Given the description of an element on the screen output the (x, y) to click on. 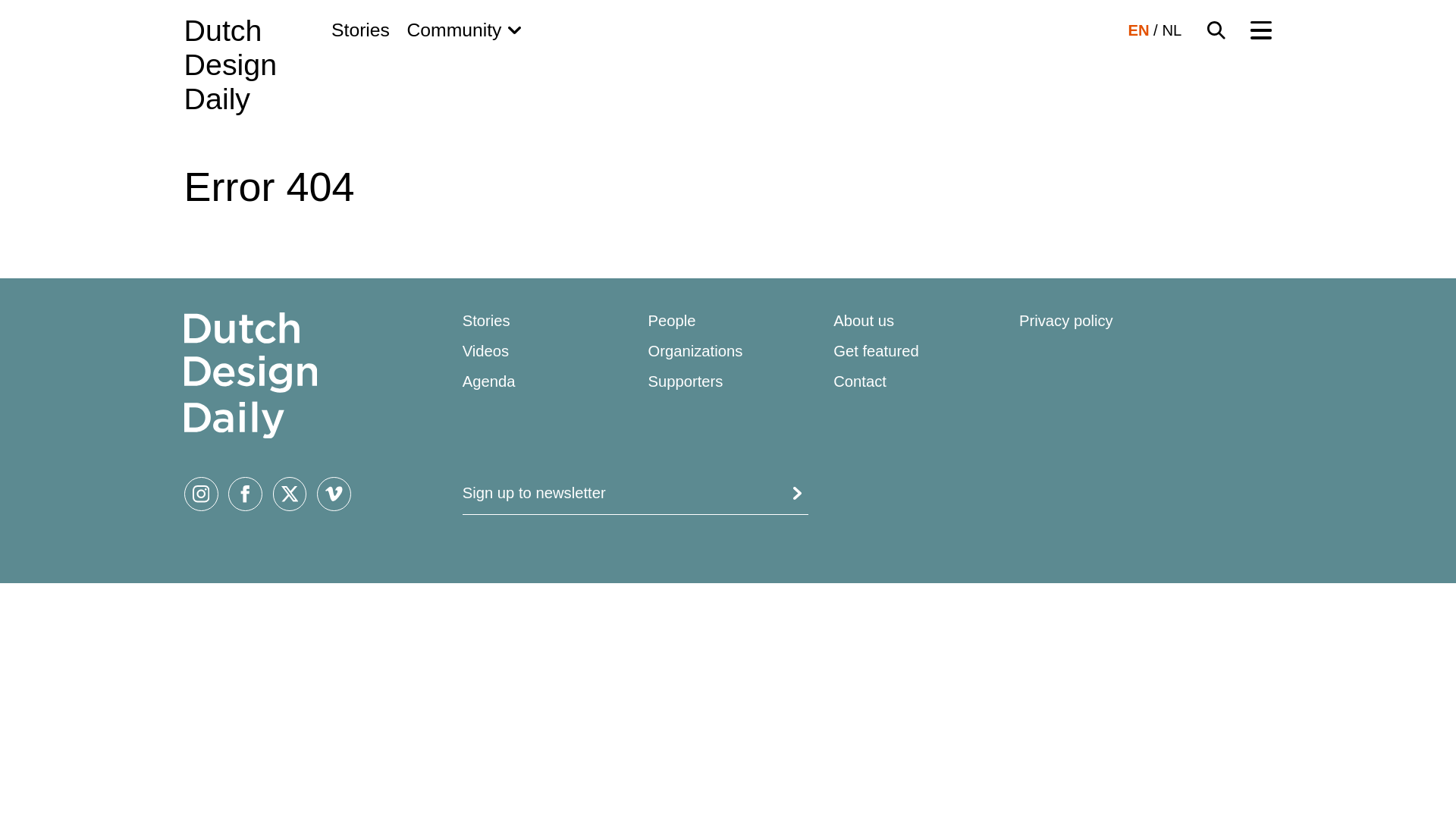
People (671, 320)
Supporters (684, 381)
Organizations (694, 351)
EN (1137, 30)
Privacy policy (1066, 320)
Stories (360, 30)
NL (1170, 30)
Contact (859, 381)
Community (463, 30)
Agenda (489, 381)
